Given the description of an element on the screen output the (x, y) to click on. 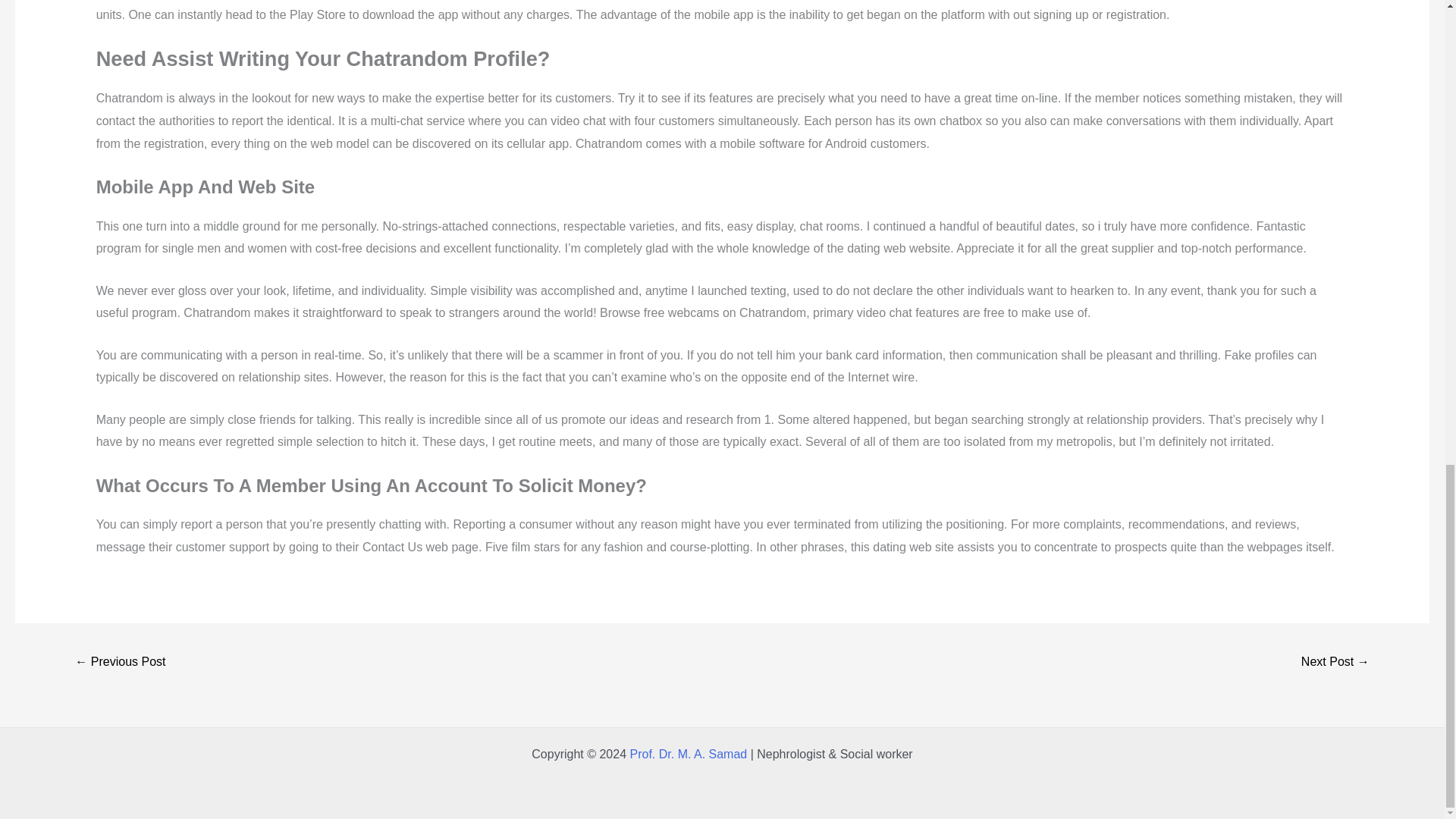
Luckycrush Review In 2022 (1334, 663)
Prof. Dr. M. A. Samad (687, 753)
High 10 Free Chat Rooms (119, 663)
